Given the description of an element on the screen output the (x, y) to click on. 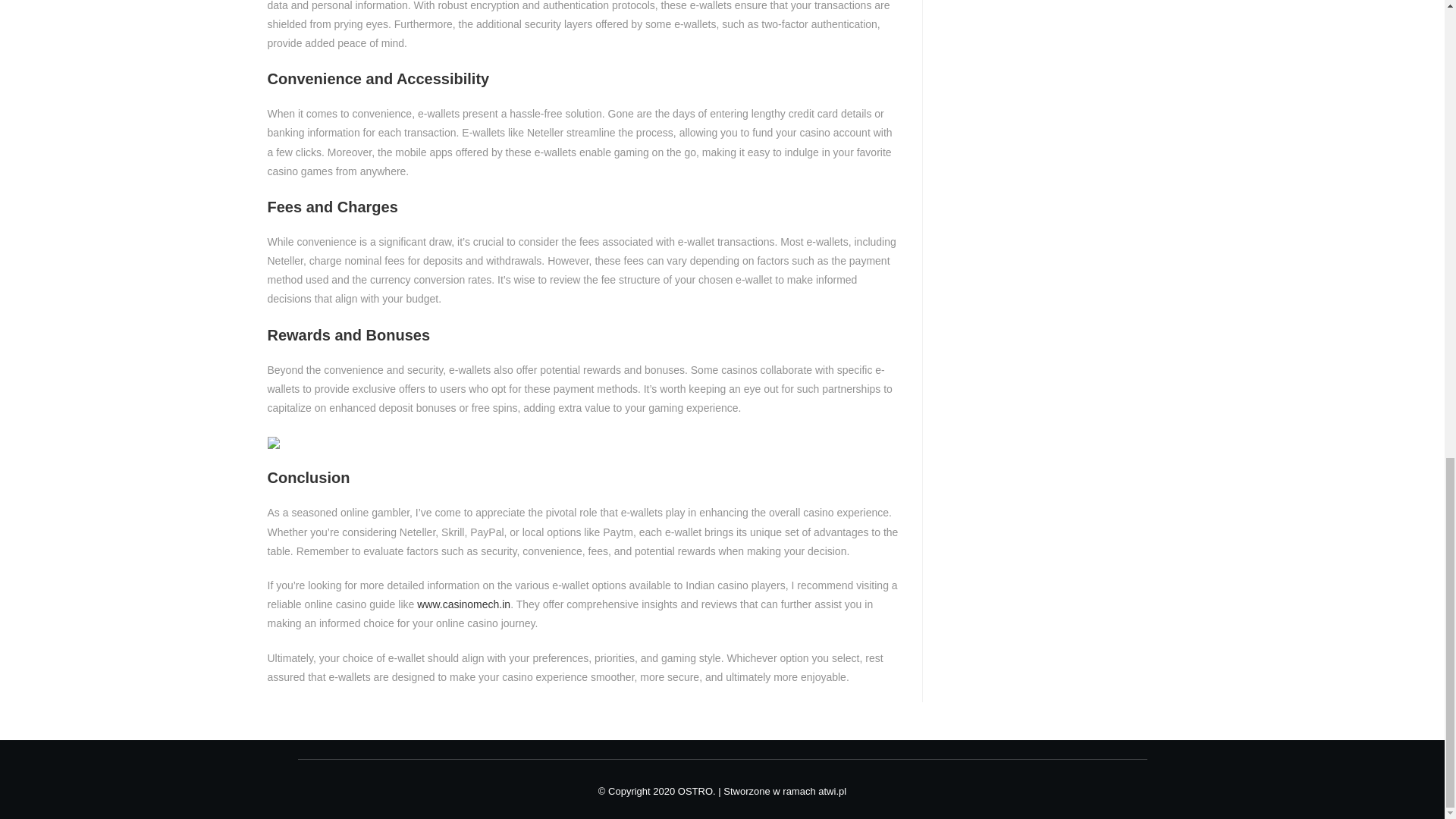
www.casinomech.in (463, 604)
atwi.pl (831, 790)
